Given the description of an element on the screen output the (x, y) to click on. 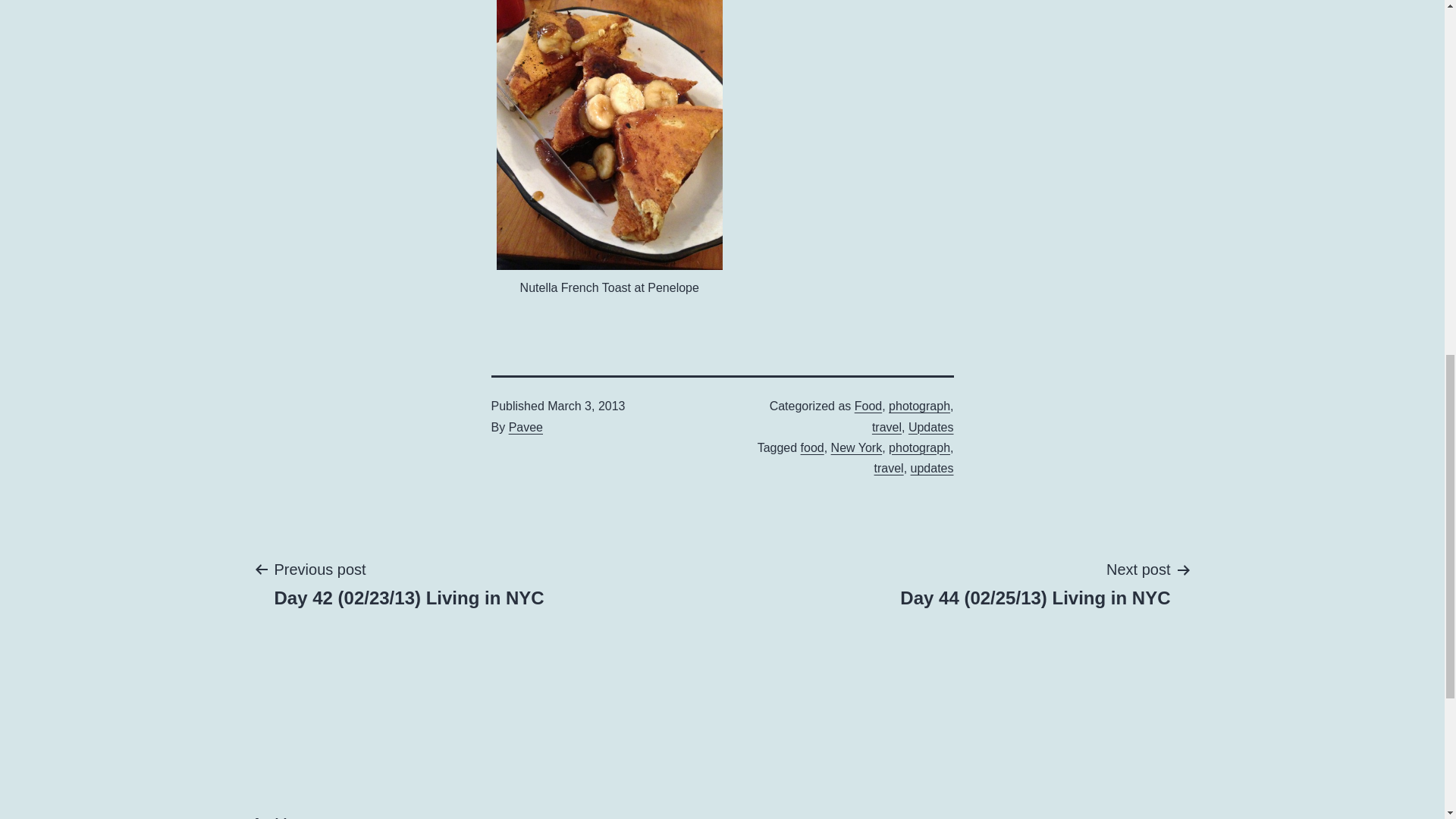
travel (889, 468)
travel (886, 427)
Updates (930, 427)
food (812, 447)
New York (856, 447)
photograph (919, 405)
Pavee (525, 427)
photograph (919, 447)
updates (932, 468)
Food (868, 405)
